Given the description of an element on the screen output the (x, y) to click on. 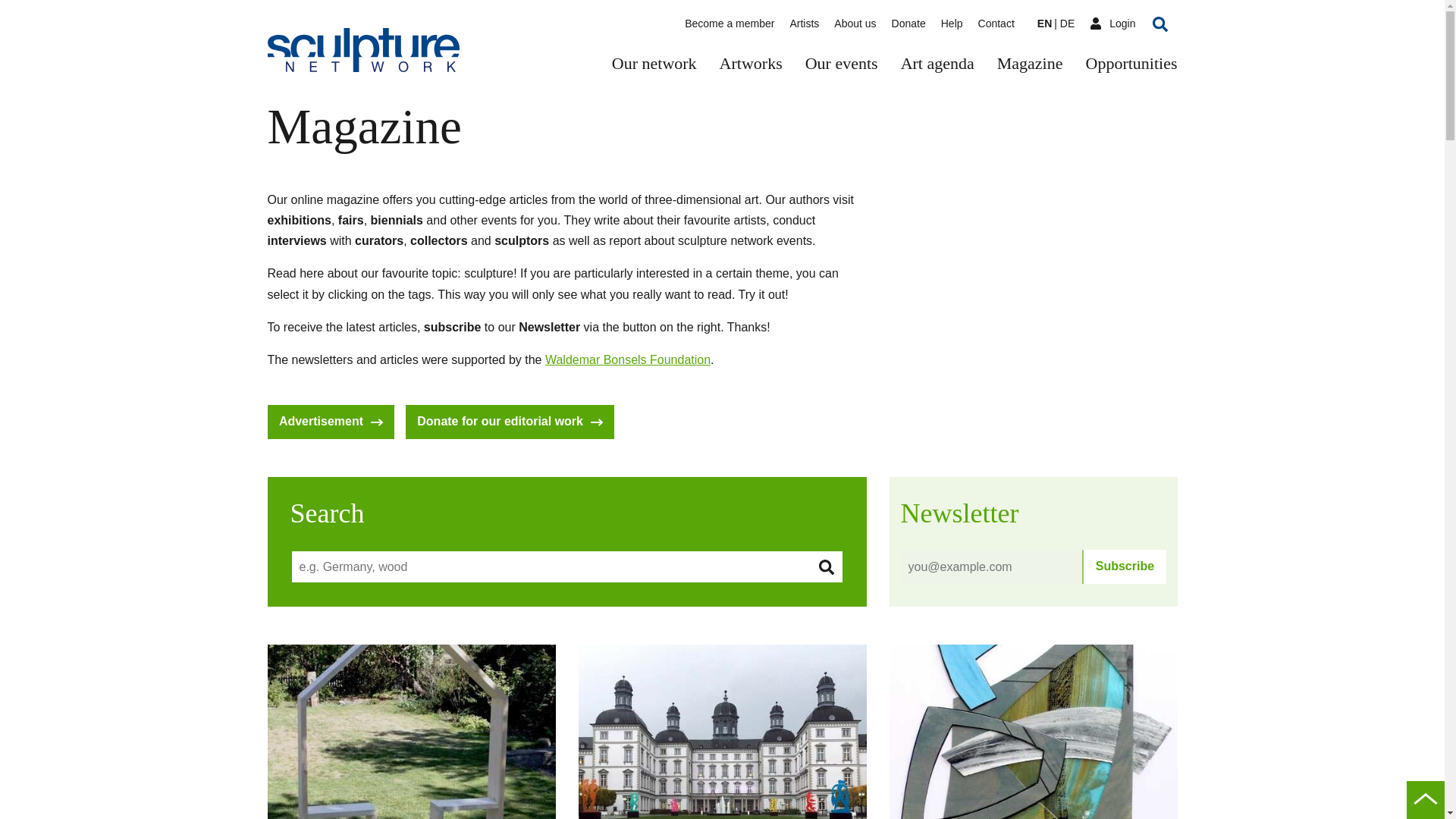
Donate (908, 23)
Help (951, 23)
Contact (996, 23)
Login (1112, 24)
About us (855, 23)
Magazine (1029, 65)
Art agenda (937, 65)
Artworks (751, 65)
Our events (841, 65)
Opportunities (1131, 65)
